Given the description of an element on the screen output the (x, y) to click on. 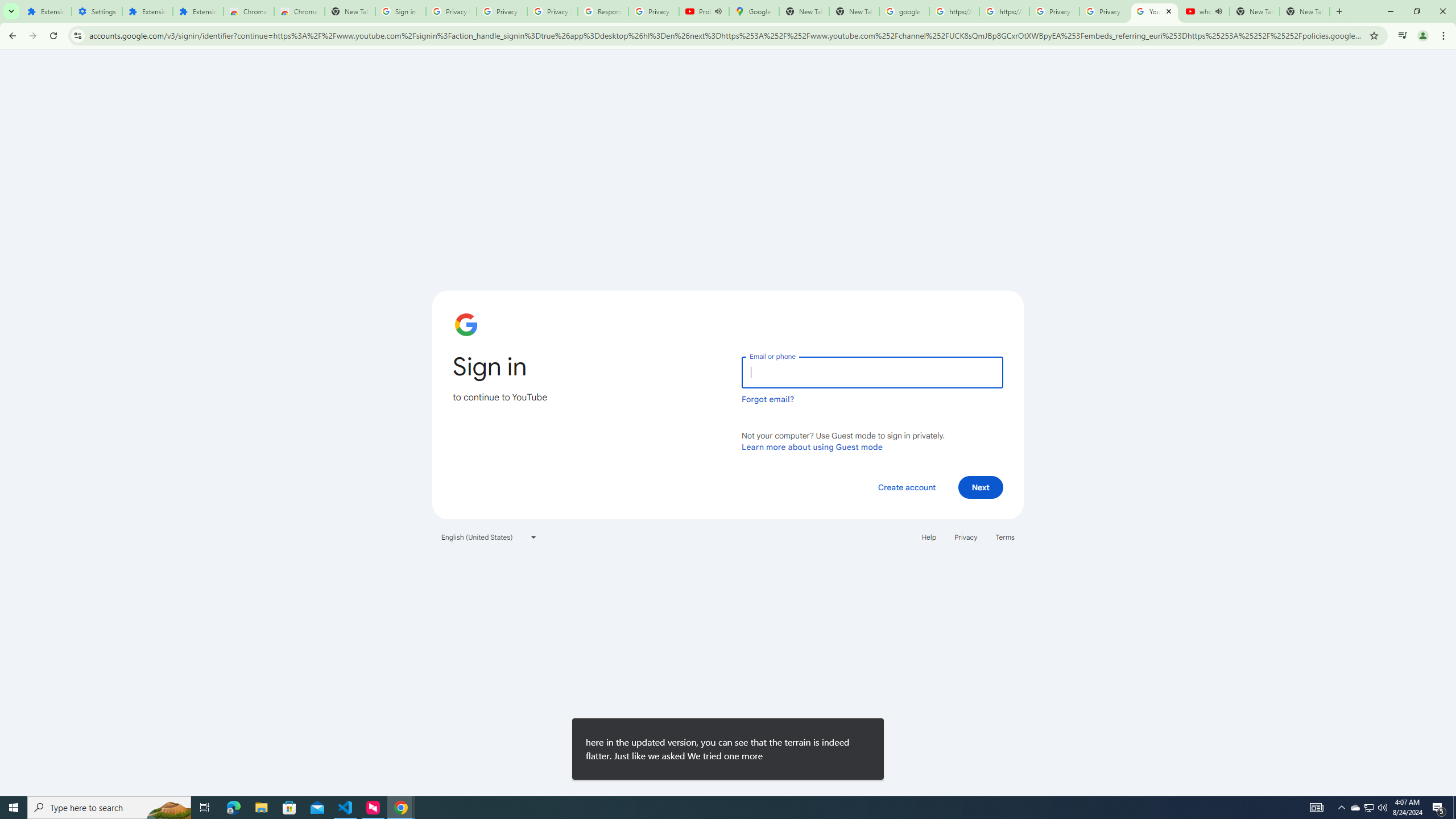
Next (980, 486)
Settings (97, 11)
Extensions (197, 11)
Learn more about using Guest mode (812, 446)
Forgot email? (767, 398)
https://scholar.google.com/ (1004, 11)
Chrome Web Store - Themes (299, 11)
Mute tab (1218, 10)
